Given the description of an element on the screen output the (x, y) to click on. 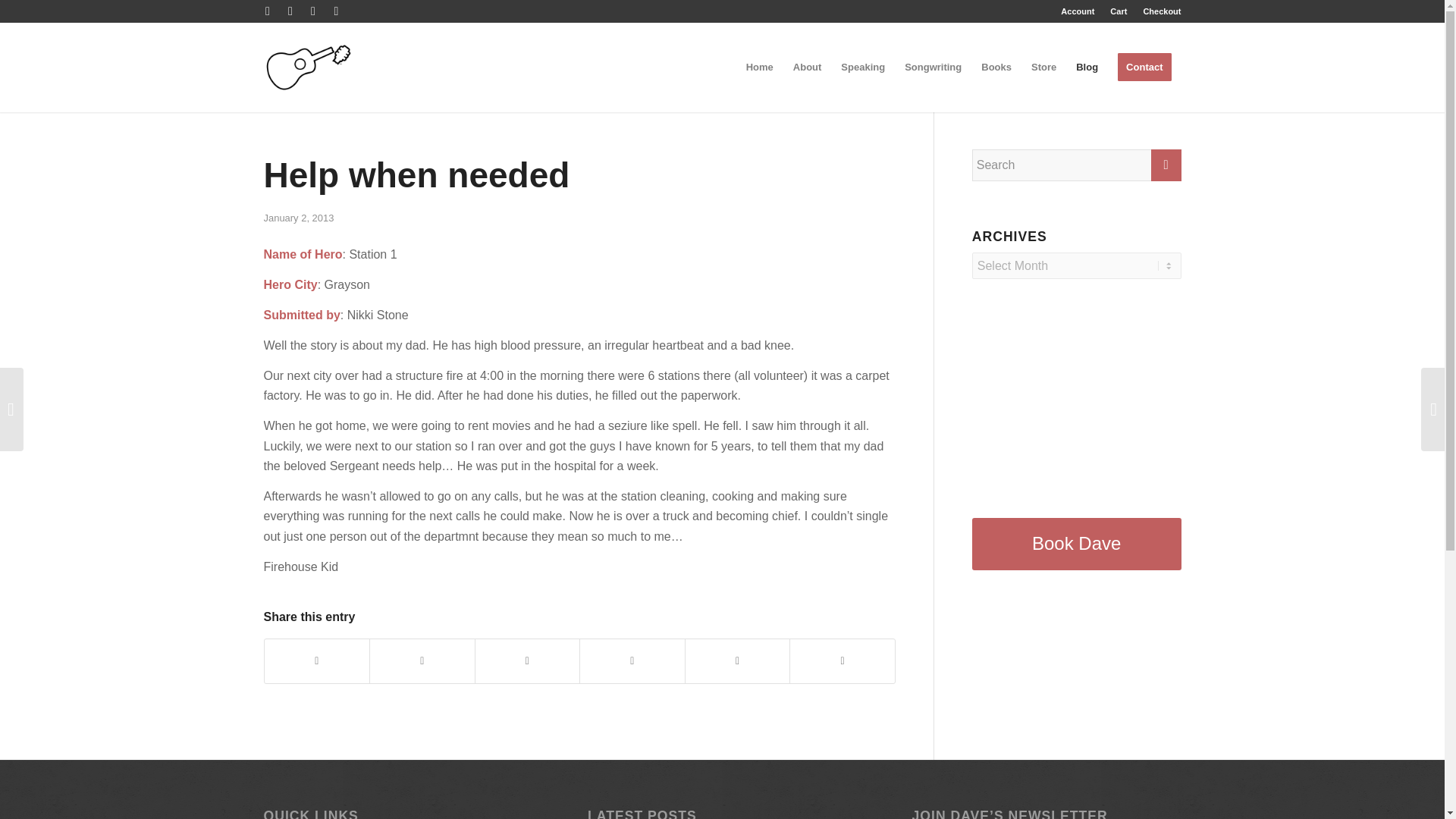
Account (1077, 11)
Instagram (335, 11)
Facebook (267, 11)
Permanent Link: Help when needed (416, 174)
Help when needed (416, 174)
Linkedin (312, 11)
Spotify Embed: Dave Carroll (1076, 398)
Youtube (290, 11)
Book Dave (1076, 543)
Checkout (1161, 11)
